Given the description of an element on the screen output the (x, y) to click on. 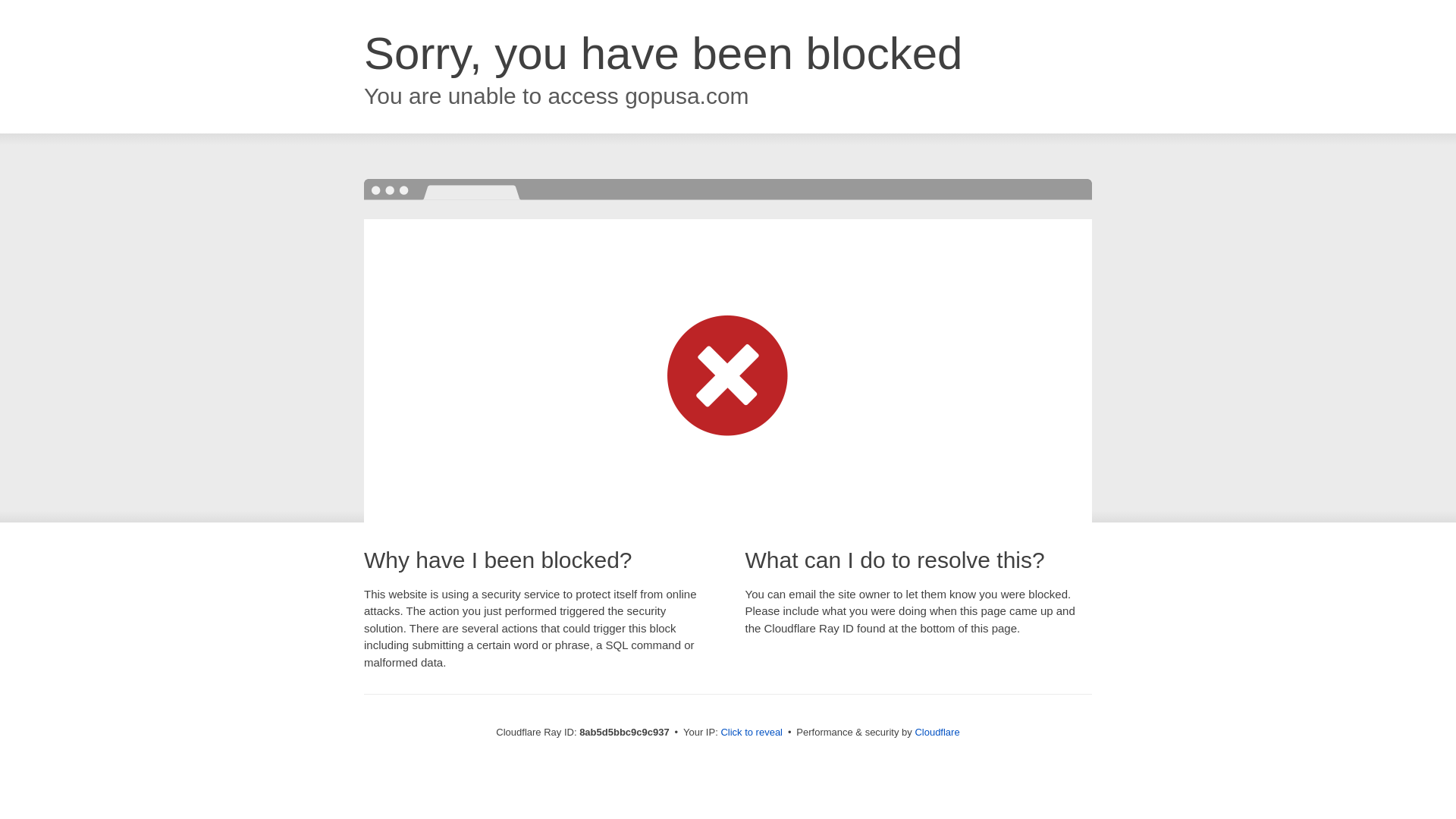
Cloudflare (936, 731)
Click to reveal (751, 732)
